Given the description of an element on the screen output the (x, y) to click on. 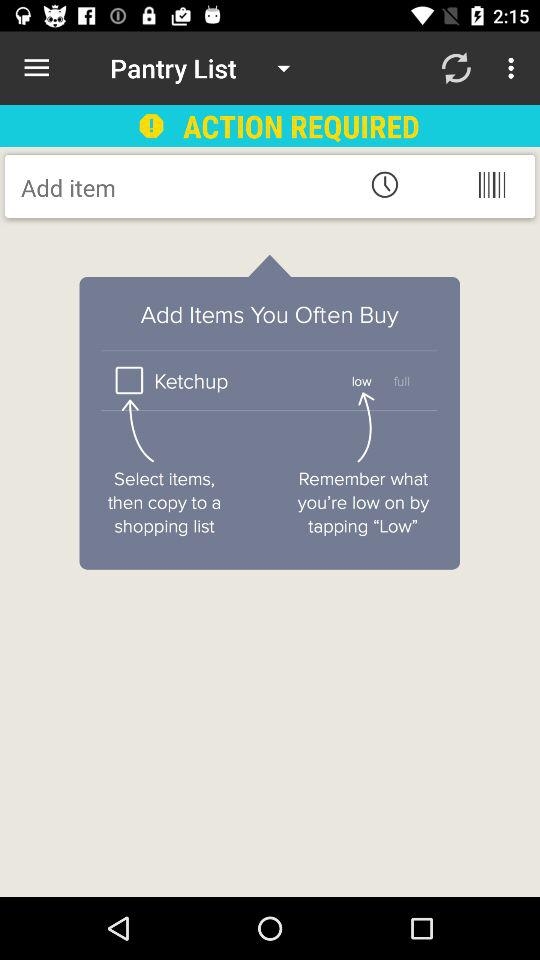
time (384, 184)
